Given the description of an element on the screen output the (x, y) to click on. 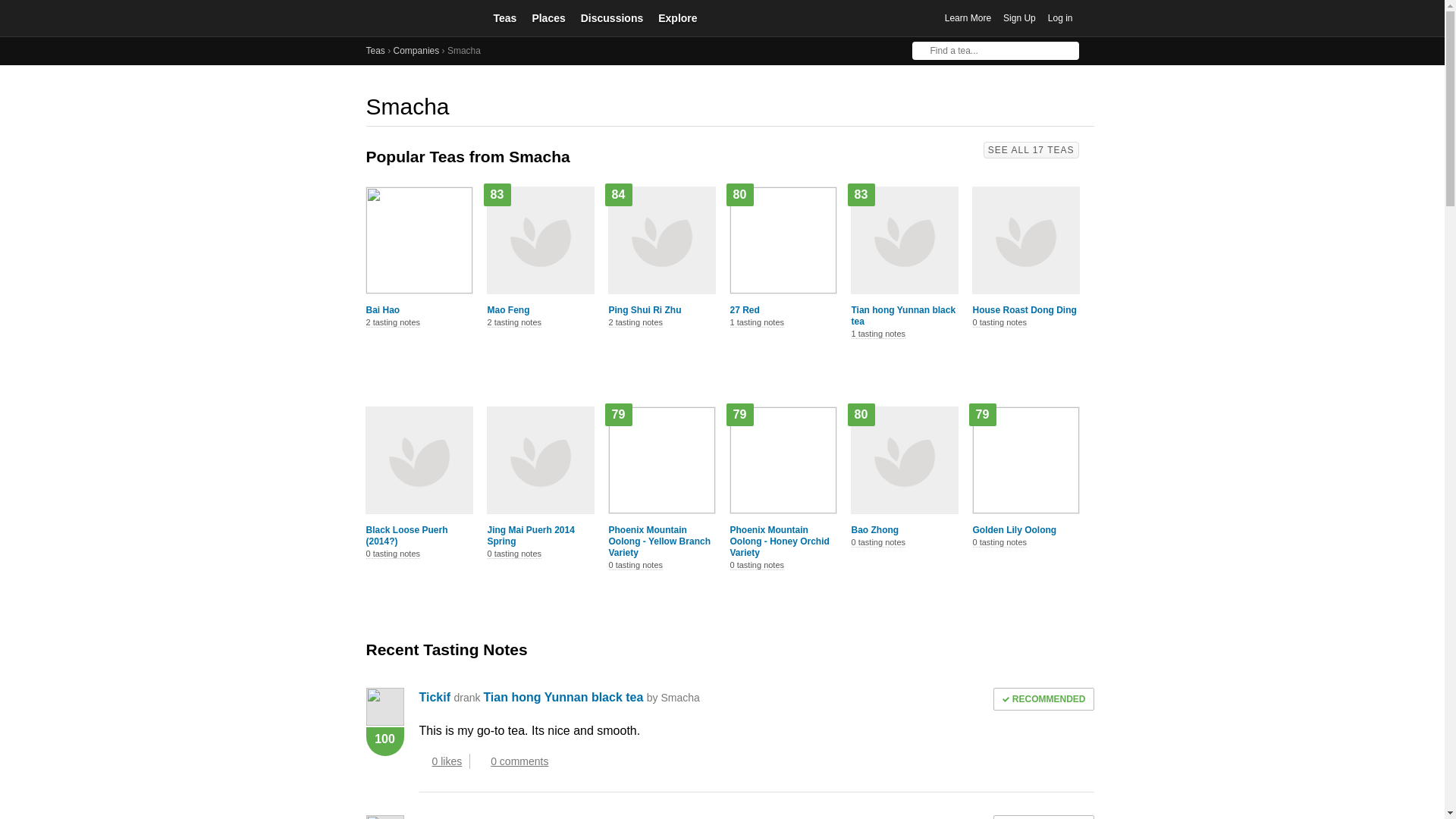
Phoenix Mountain Oolong - Yellow Branch Variety (661, 541)
Discussions (612, 17)
1 tasting notes (877, 334)
Teas (504, 17)
Sign Up (1019, 18)
2 tasting notes (635, 322)
Explore (677, 17)
SEE ALL 17 TEAS (1031, 149)
Ping Shui Ri Zhu (661, 310)
0 tasting notes (999, 322)
Steepster (418, 18)
2 tasting notes (513, 322)
Teas (374, 50)
Learn More (968, 18)
Jing Mai Puerh 2014 Spring (539, 535)
